Given the description of an element on the screen output the (x, y) to click on. 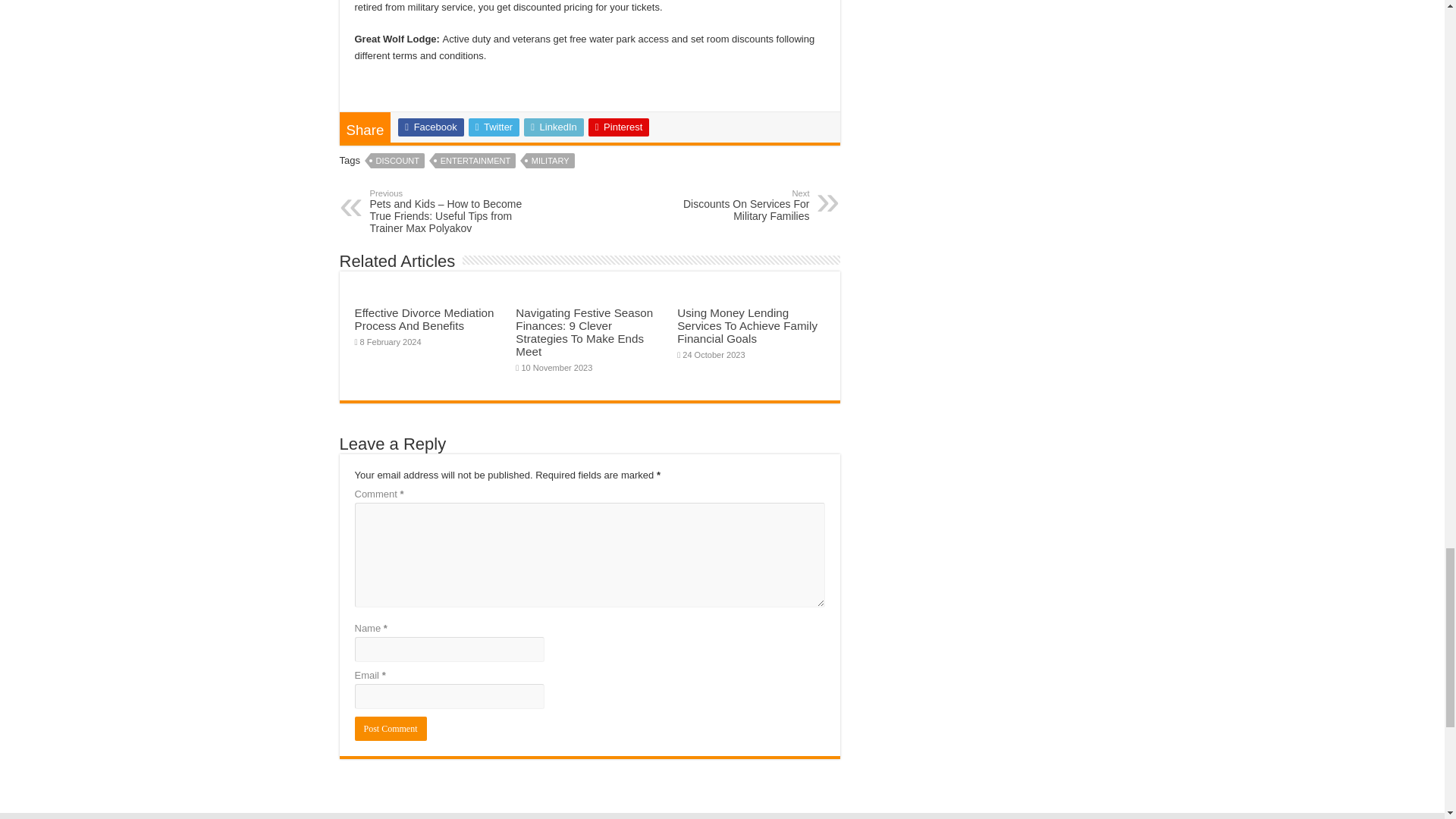
DISCOUNT (398, 160)
Pinterest (618, 126)
Facebook (430, 126)
Post Comment (390, 728)
Twitter (493, 126)
LinkedIn (553, 126)
